Given the description of an element on the screen output the (x, y) to click on. 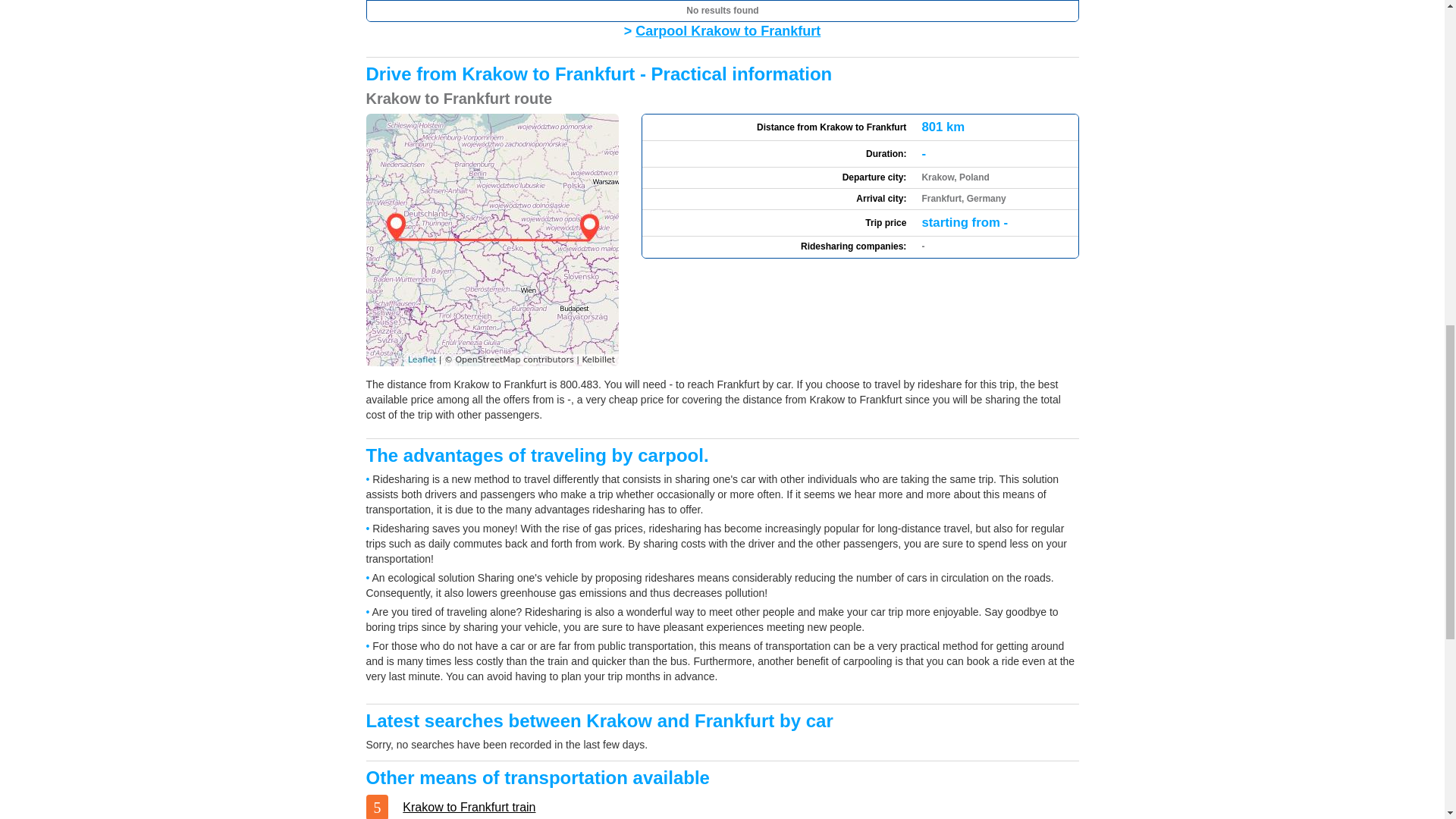
Krakow to Frankfurt train (469, 807)
